Given the description of an element on the screen output the (x, y) to click on. 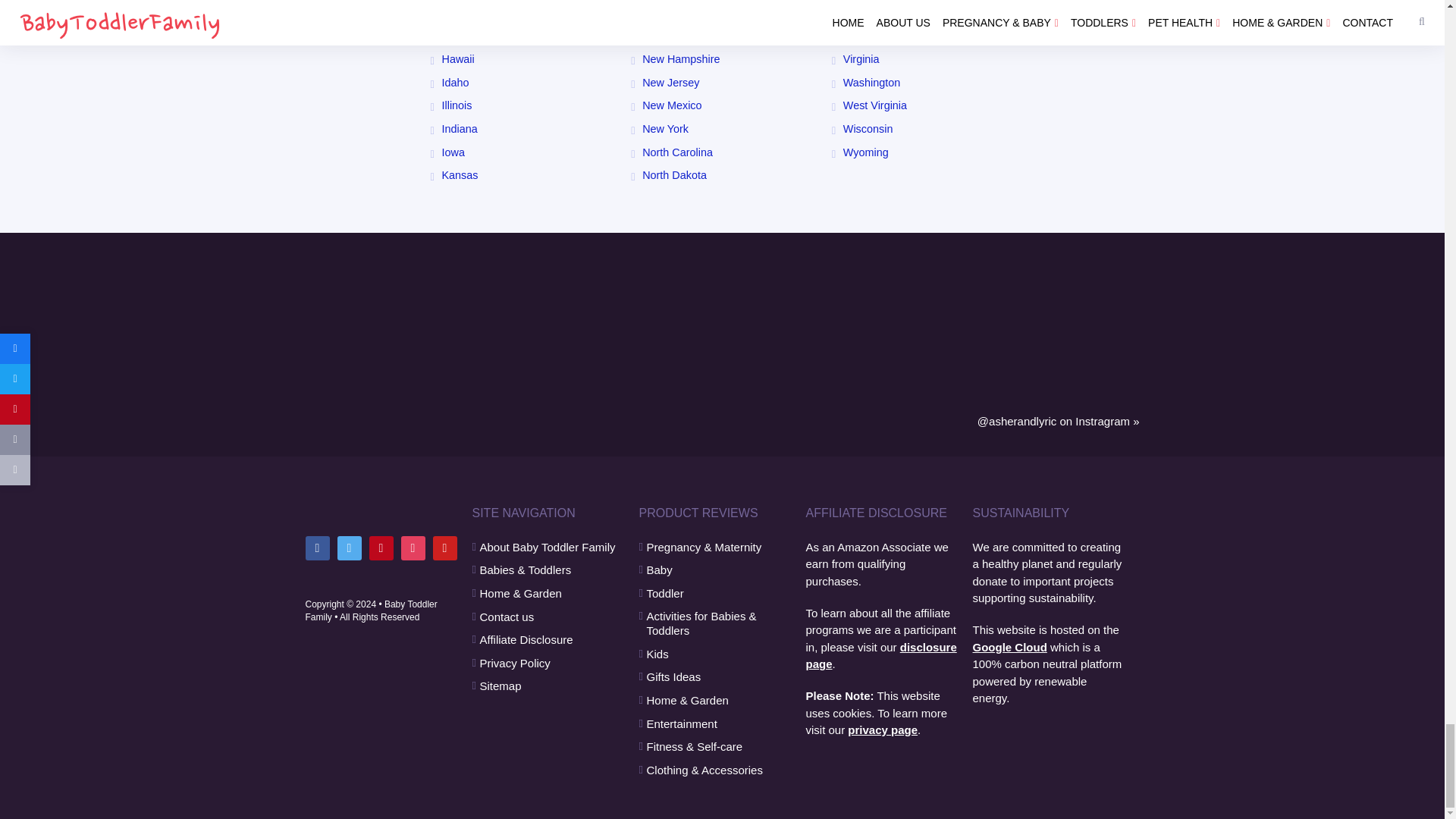
Baby Toddler Family on Instagram (412, 548)
Baby Toddler Family on Twitter (348, 548)
Baby Toddler Family on Pinterest (380, 548)
Baby Toddler Family on Facebook (316, 548)
Baby Toddler Family (380, 506)
Baby Toddler Family on YouTube (444, 548)
